Given the description of an element on the screen output the (x, y) to click on. 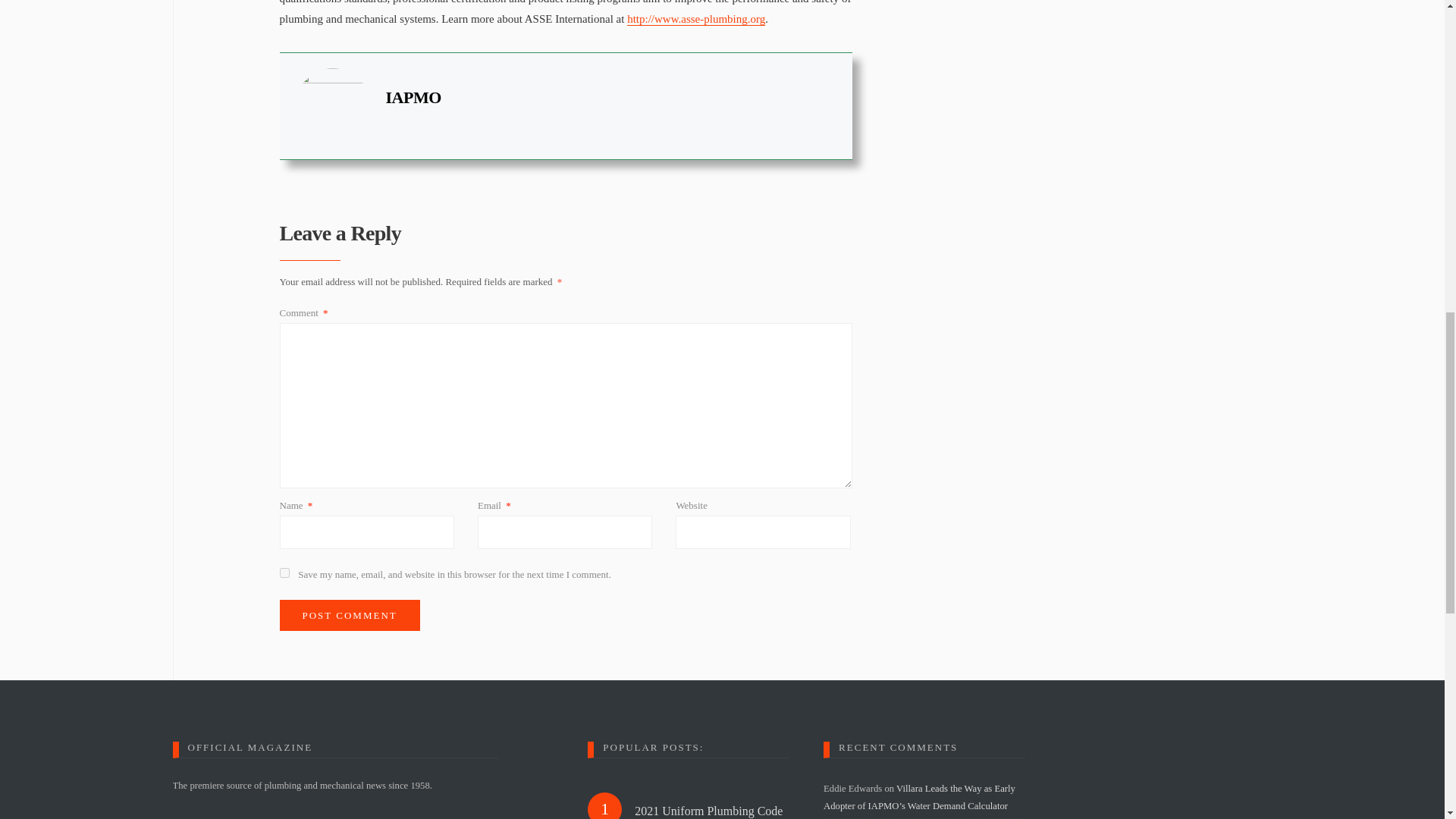
IAPMO (413, 97)
yes (283, 573)
Post Comment (349, 615)
2021 Uniform Plumbing Code Seminar Review (711, 811)
Post Comment (349, 615)
